Given the description of an element on the screen output the (x, y) to click on. 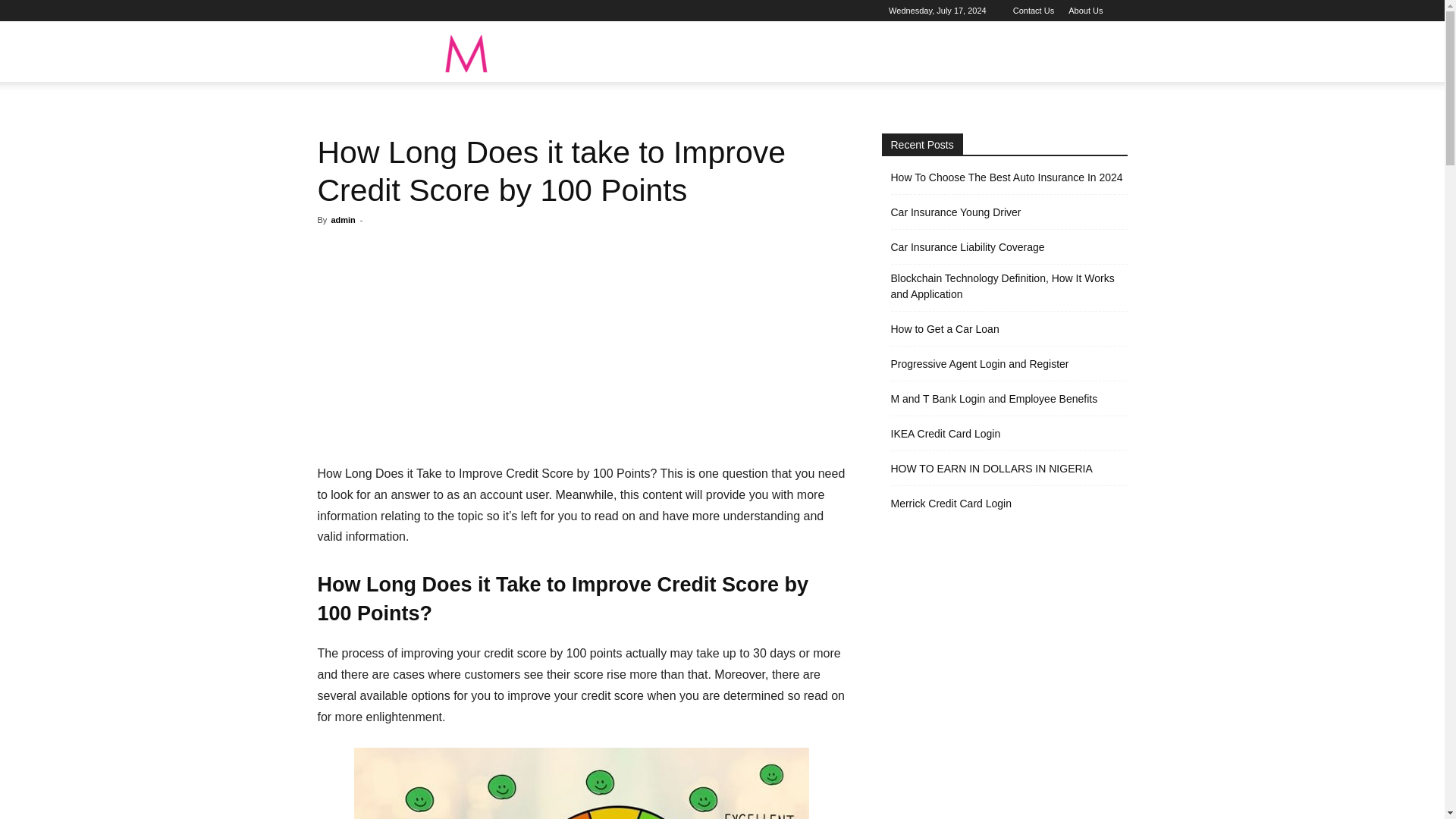
admin (342, 219)
INSURANCE (815, 51)
Advertisement (580, 349)
HOW TO (672, 51)
FINANCE (738, 51)
How To Choose The Best Auto Insurance In 2024 (1005, 177)
TECHNOLOGY (905, 51)
About Us (1085, 10)
Techimall (430, 51)
JOBS (607, 51)
Contact Us (1033, 10)
Search (1085, 124)
